Given the description of an element on the screen output the (x, y) to click on. 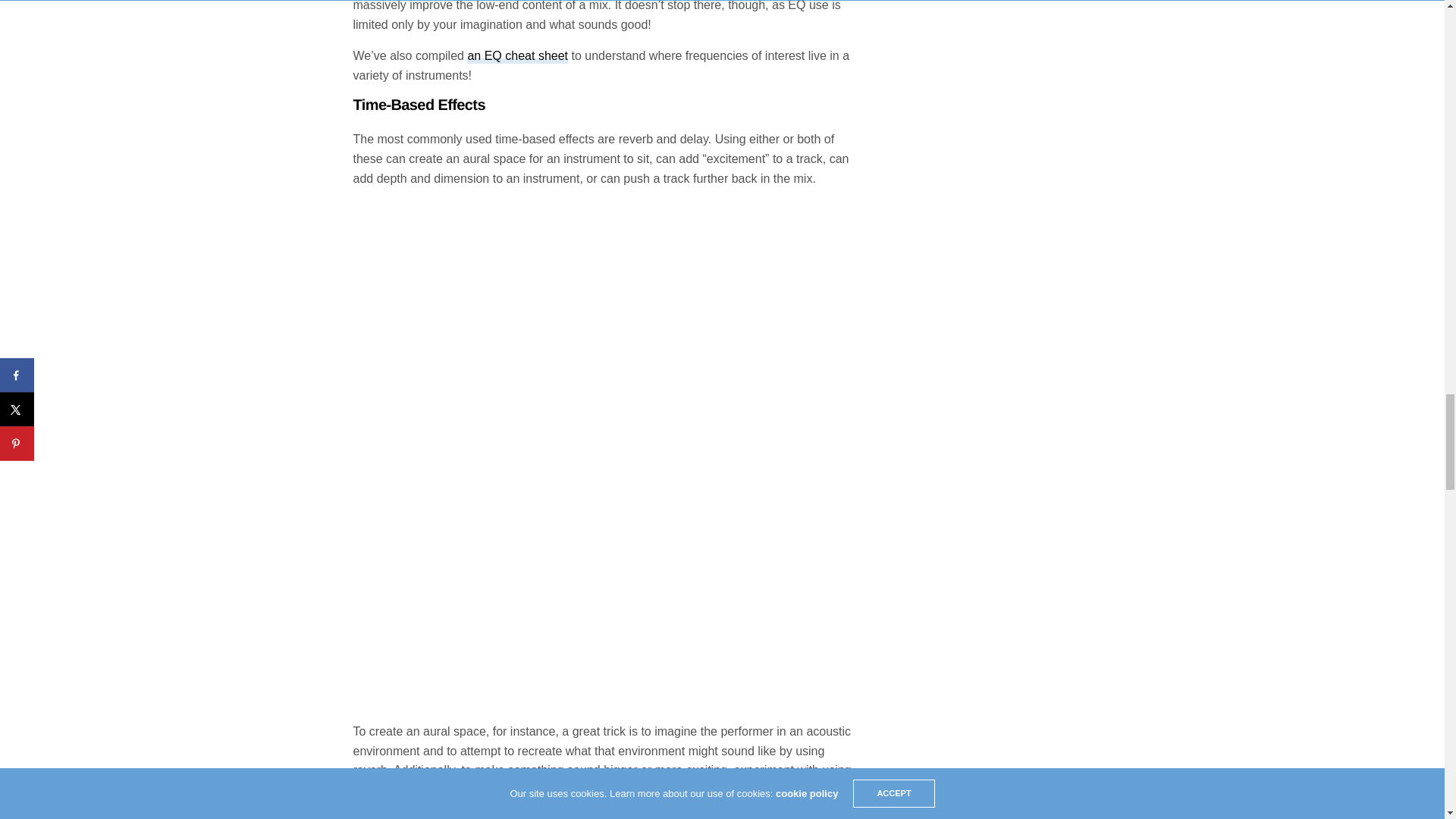
an EQ cheat sheet (517, 56)
